Given the description of an element on the screen output the (x, y) to click on. 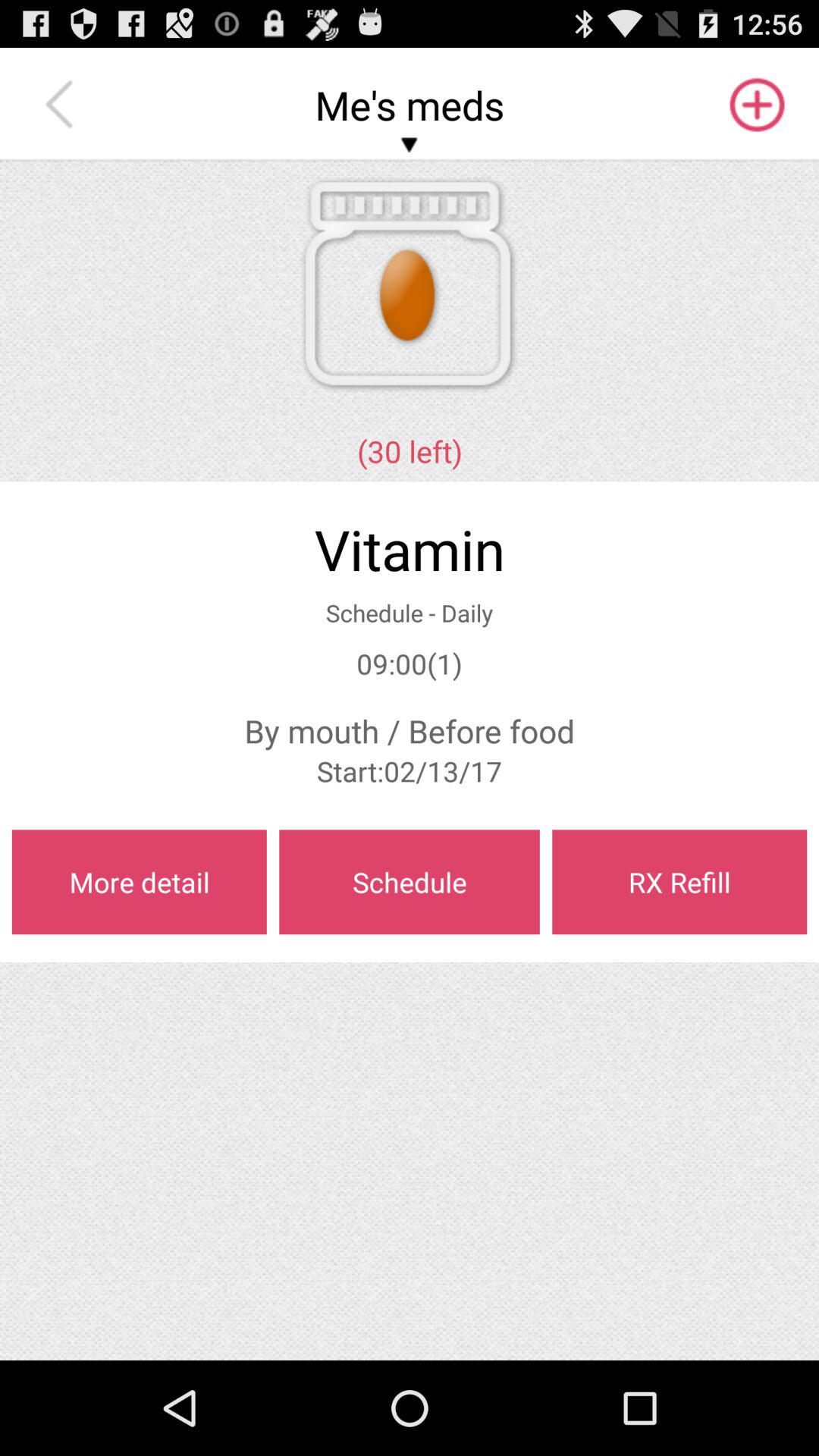
choose item next to the me's meds item (63, 104)
